Given the description of an element on the screen output the (x, y) to click on. 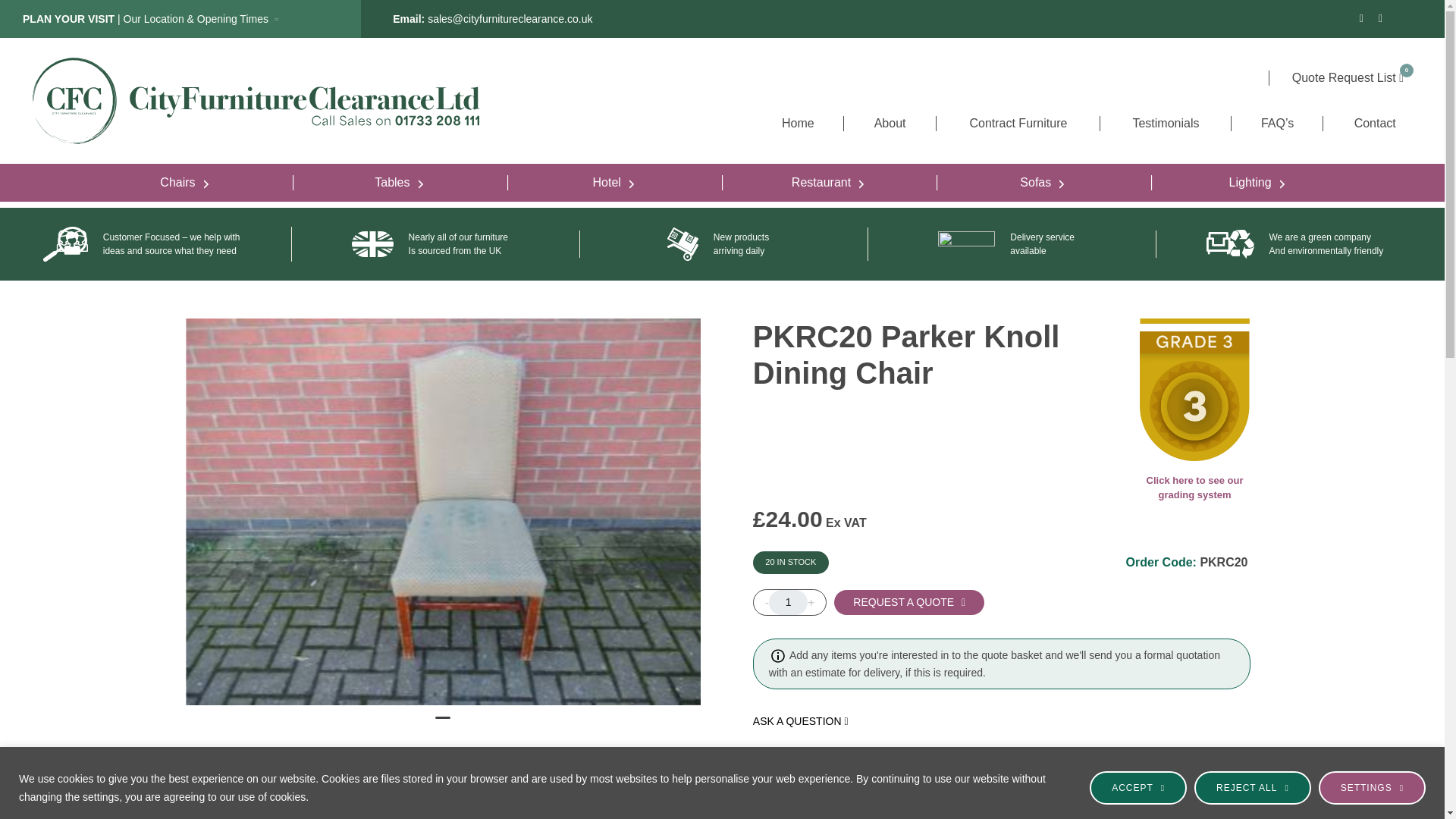
ACCEPT (1137, 786)
Contact (1374, 123)
Quote Request List (1347, 77)
SETTINGS (1372, 786)
Home (797, 123)
Testimonials (1165, 123)
REJECT ALL (1252, 786)
About (889, 123)
1 (788, 602)
Contract Furniture (1018, 123)
